Given the description of an element on the screen output the (x, y) to click on. 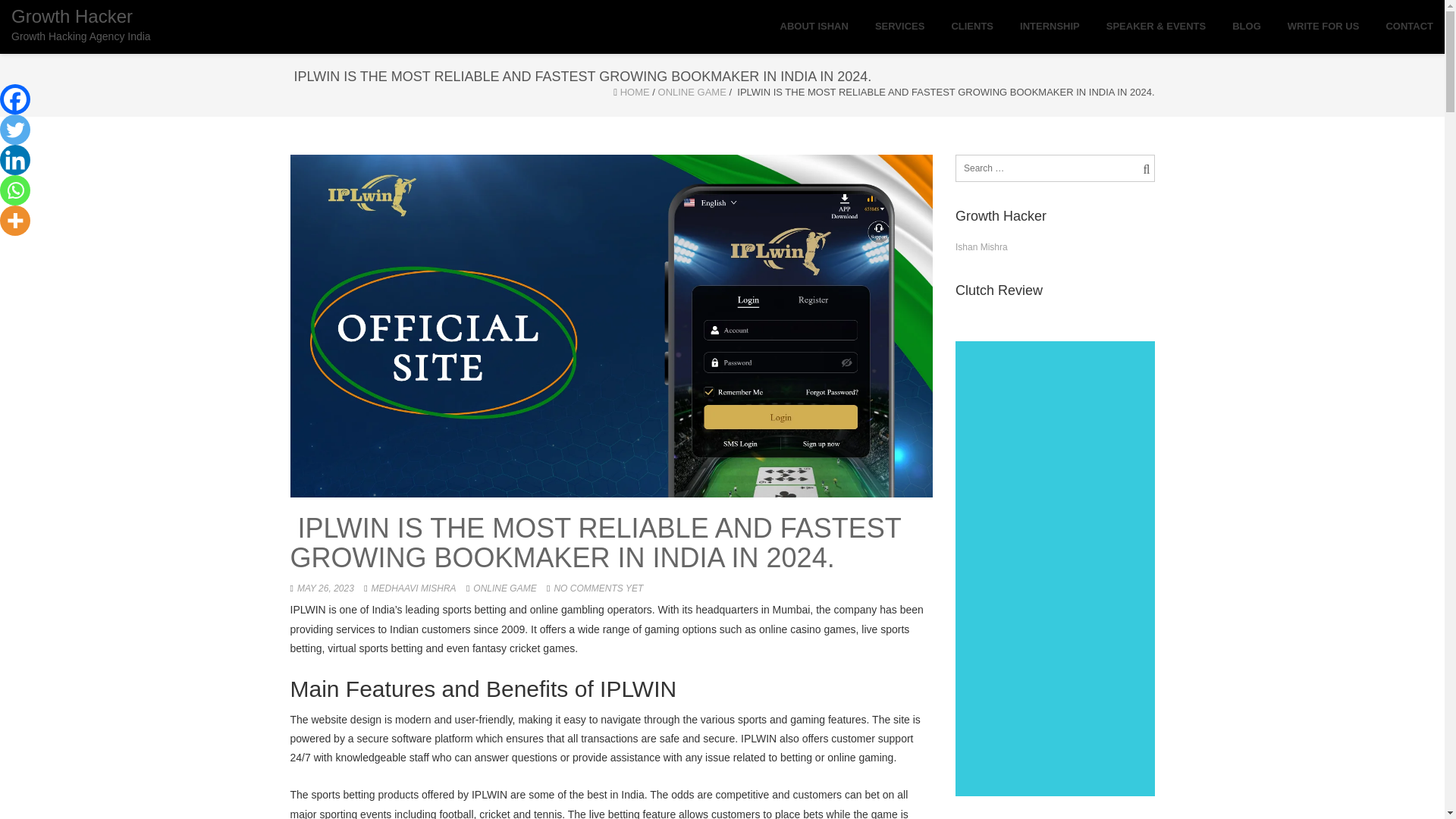
Whatsapp (15, 190)
ABOUT ISHAN (814, 26)
Facebook (15, 99)
CONTACT (1409, 26)
SERVICES (899, 26)
Growth Hacker (81, 24)
Twitter (15, 129)
More (15, 220)
Linkedin (15, 159)
INTERNSHIP (1050, 26)
WRITE FOR US (1323, 26)
